Given the description of an element on the screen output the (x, y) to click on. 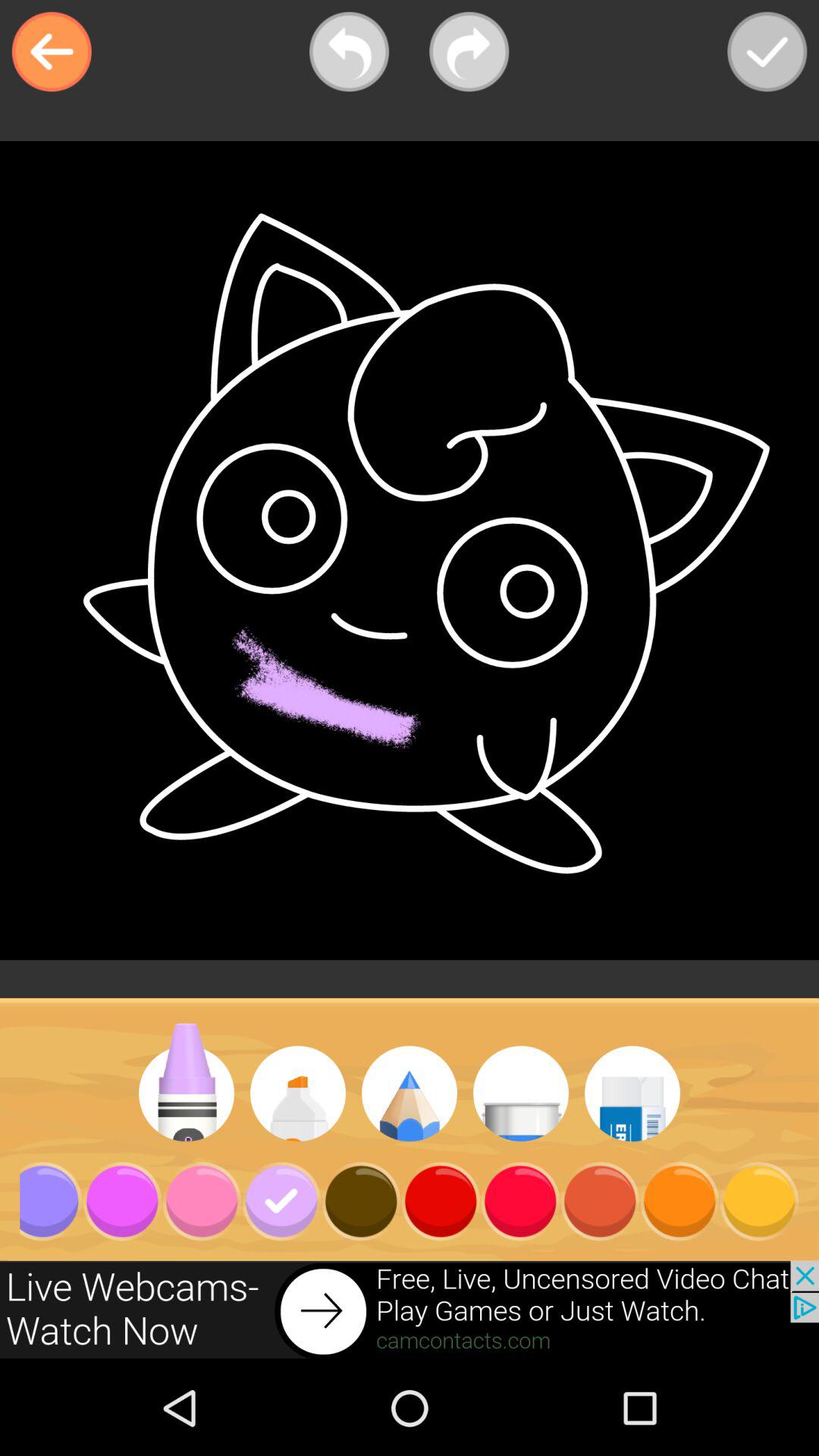
previous image (349, 51)
